Given the description of an element on the screen output the (x, y) to click on. 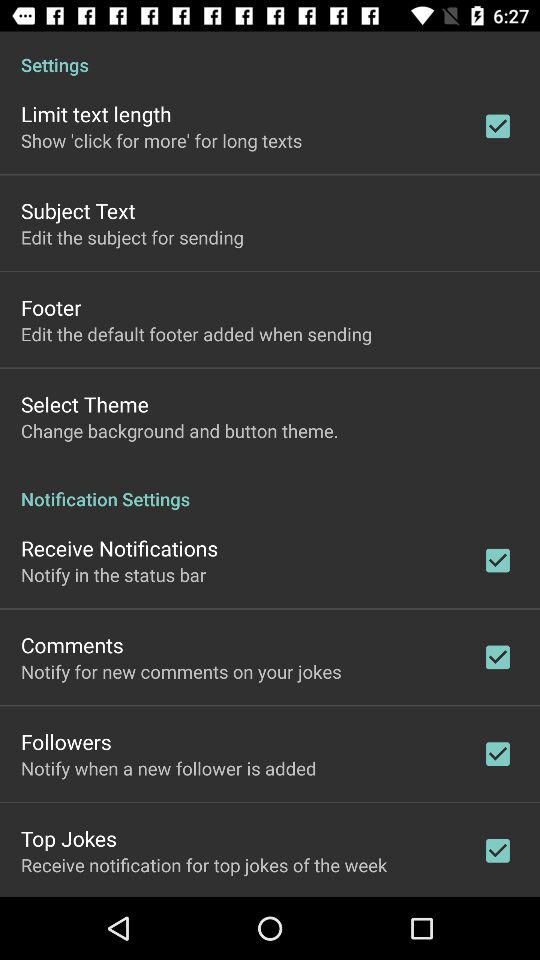
scroll until limit text length app (96, 113)
